Given the description of an element on the screen output the (x, y) to click on. 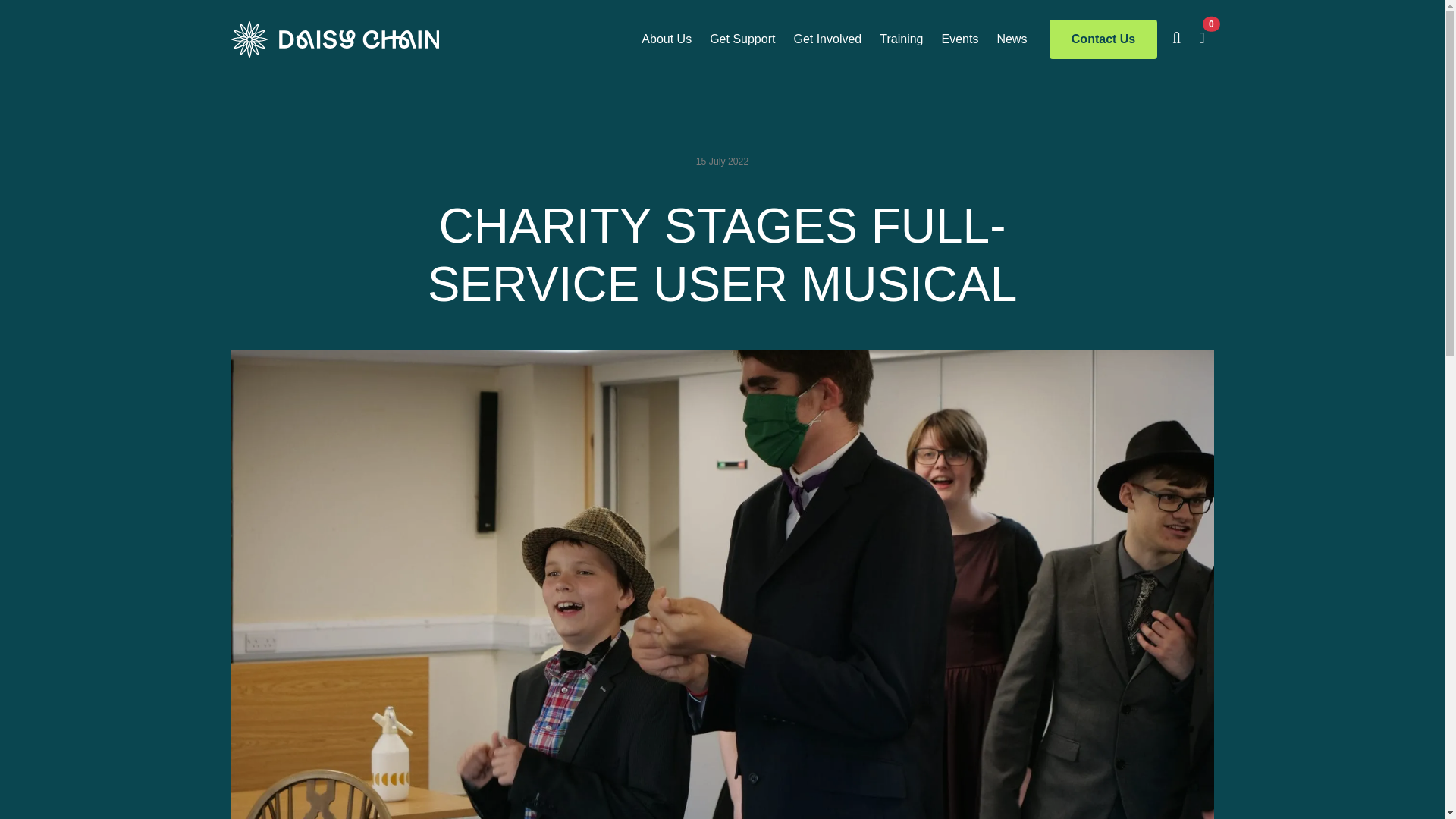
About Us (665, 39)
News (1011, 39)
Events (959, 39)
Contact Us (1103, 39)
Training (900, 39)
News (1011, 39)
Get Involved (827, 39)
Contact Us (1103, 39)
Events (959, 39)
Get Support (742, 39)
Get Involved (827, 39)
Training (900, 39)
Get Support (742, 39)
About Us (665, 39)
